Given the description of an element on the screen output the (x, y) to click on. 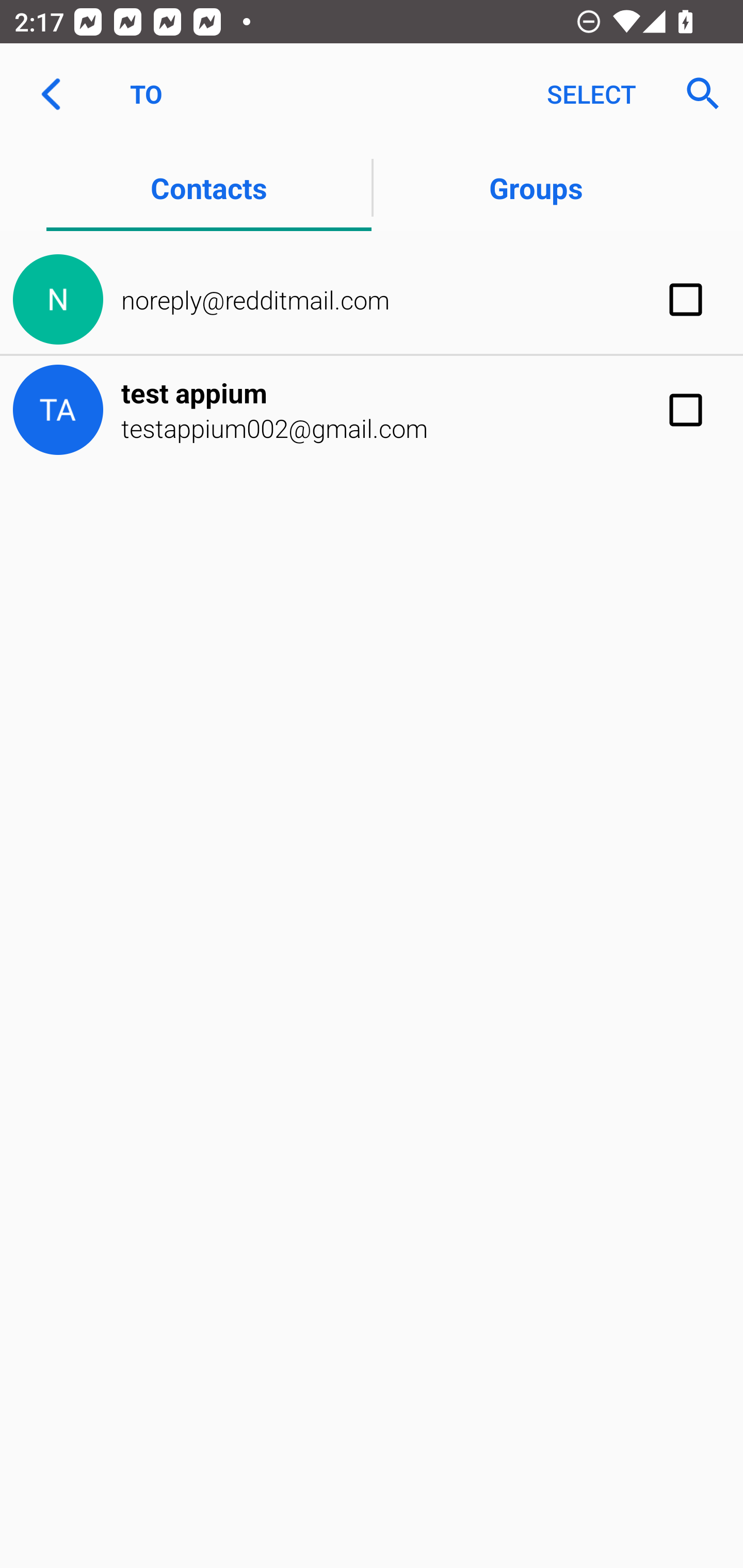
Navigate up (50, 93)
SELECT (590, 93)
Search (696, 93)
Contacts (208, 187)
Groups (535, 187)
noreply@redditmail.com (371, 300)
test appium testappium002@gmail.com (371, 409)
